Given the description of an element on the screen output the (x, y) to click on. 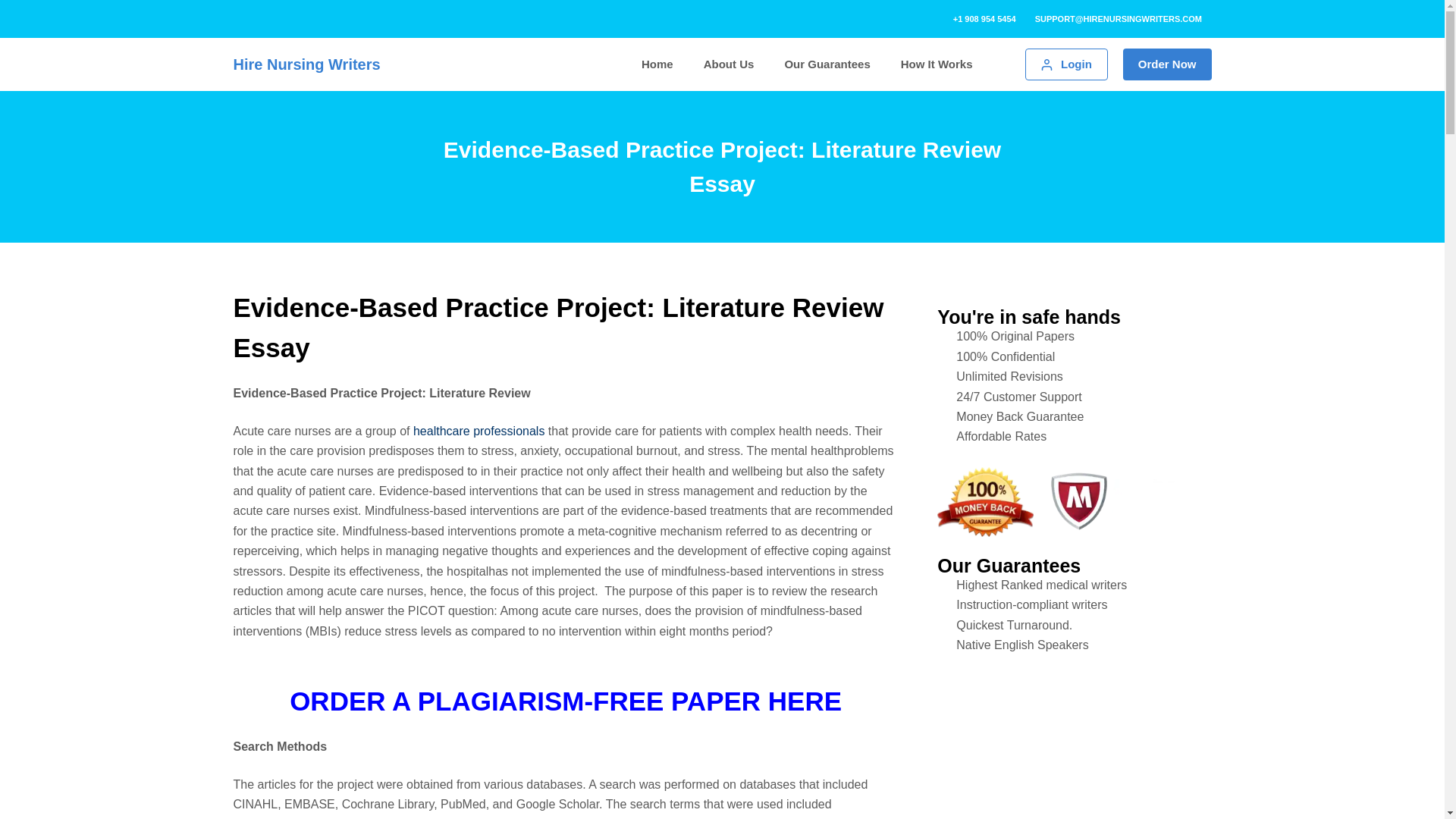
Evidence-Based Practice Project: Literature Review Essay (722, 166)
Our Guarantees (826, 64)
About Us (729, 64)
healthcare professionals (478, 431)
Login (1065, 64)
Home (657, 64)
How It Works (936, 64)
ORDER A PLAGIARISM-FREE PAPER HERE (565, 700)
Order Now (1166, 64)
Hire Nursing Writers (306, 64)
